Given the description of an element on the screen output the (x, y) to click on. 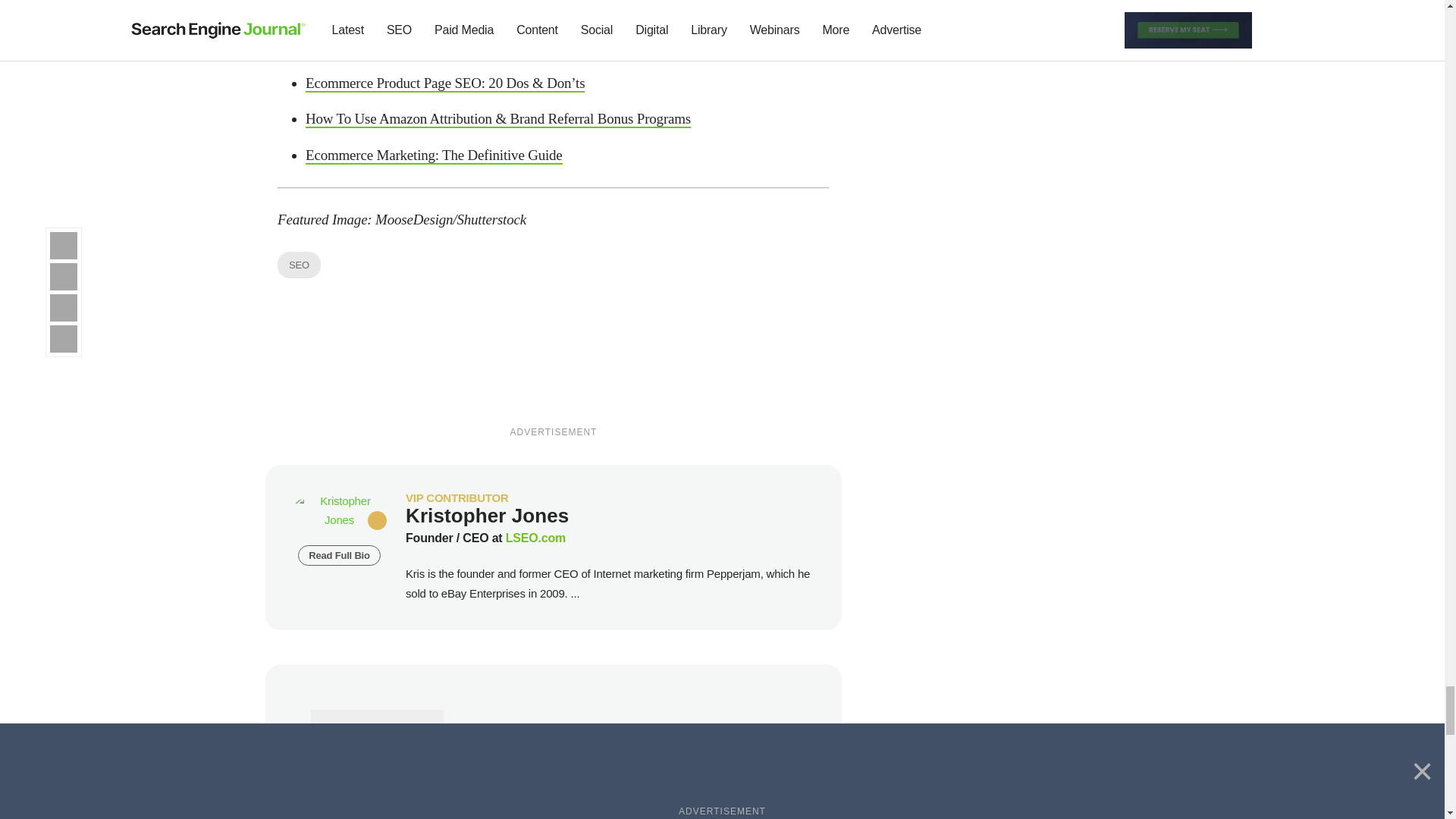
Download Now (433, 155)
